Given the description of an element on the screen output the (x, y) to click on. 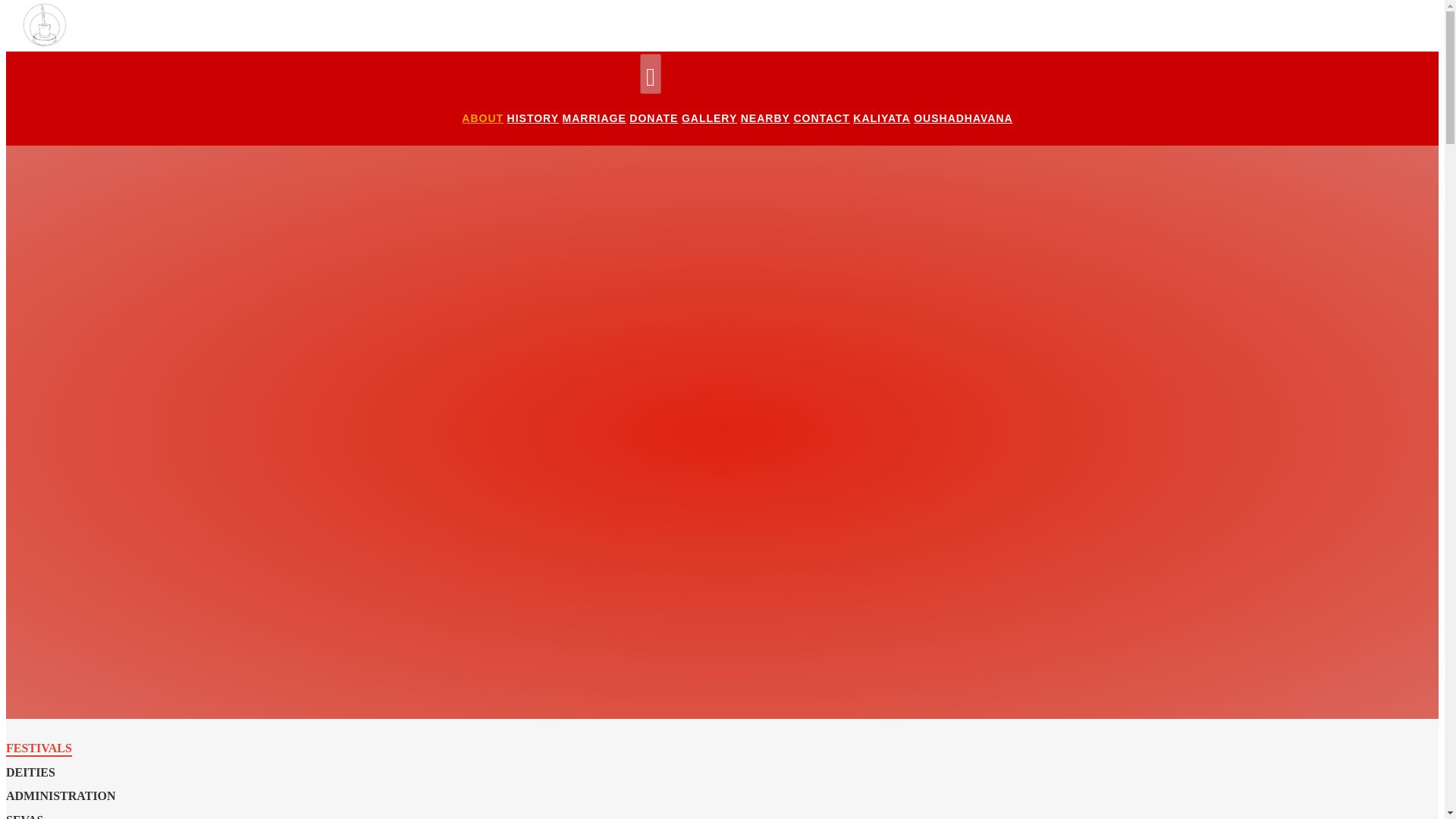
SEVAS (24, 816)
OUSHADHAVANA (962, 118)
FESTIVALS (38, 749)
ADMINISTRATION (60, 796)
CONTACT (820, 118)
NEARBY (765, 118)
DEITIES (30, 773)
MARRIAGE (594, 118)
ABOUT (482, 118)
HISTORY (532, 118)
